Given the description of an element on the screen output the (x, y) to click on. 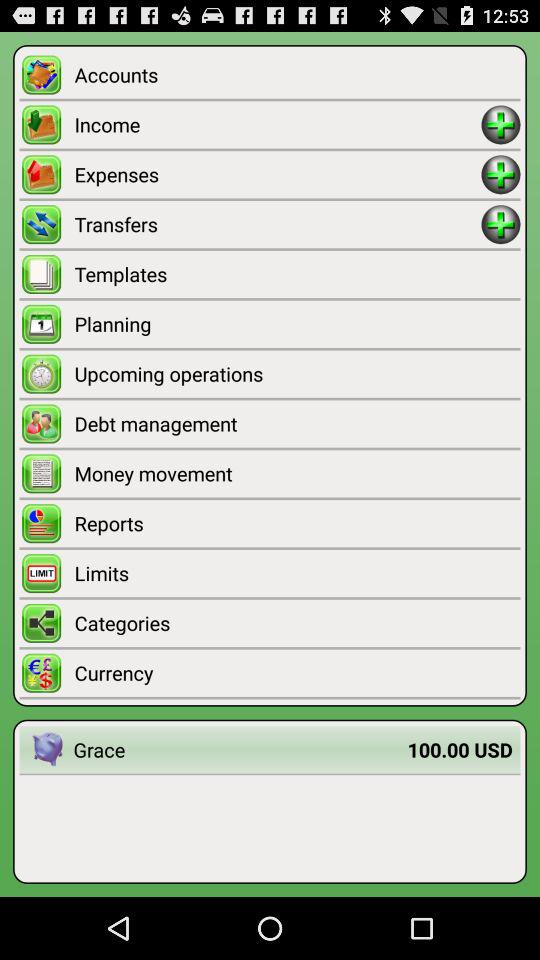
launch app next to the grace item (46, 749)
